Given the description of an element on the screen output the (x, y) to click on. 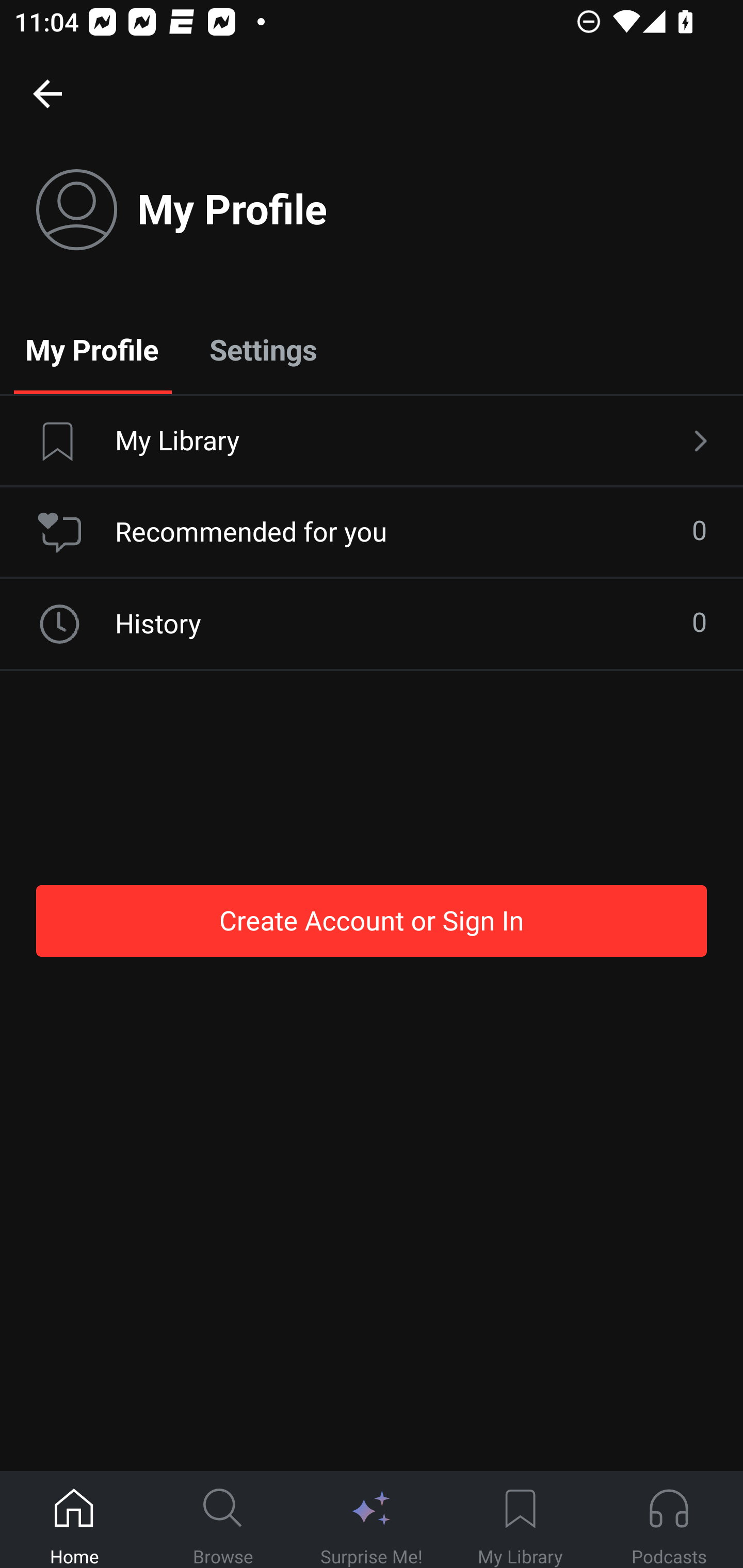
Home, back (47, 92)
My Profile (92, 348)
Settings (263, 348)
My Library (371, 441)
Recommended for you 0 (371, 532)
History 0 (371, 623)
Create Account or Sign In (371, 920)
Home (74, 1520)
Browse (222, 1520)
Surprise Me! (371, 1520)
My Library (519, 1520)
Podcasts (668, 1520)
